Given the description of an element on the screen output the (x, y) to click on. 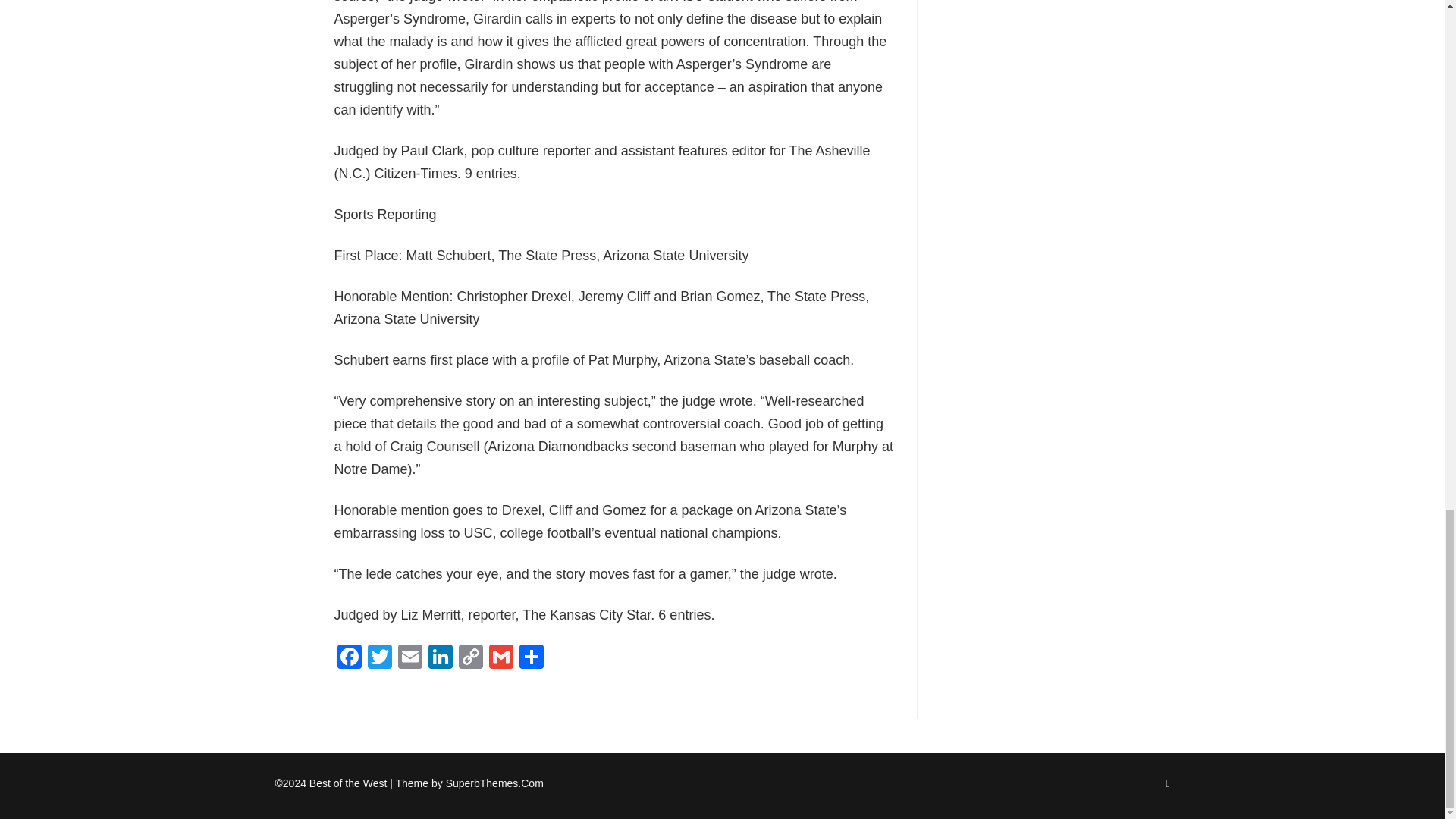
Email (409, 658)
Twitter (379, 658)
Gmail (499, 658)
LinkedIn (439, 658)
LinkedIn (439, 658)
SuperbThemes.Com (494, 783)
Facebook (348, 658)
Copy Link (469, 658)
Twitter (379, 658)
Copy Link (469, 658)
